Given the description of an element on the screen output the (x, y) to click on. 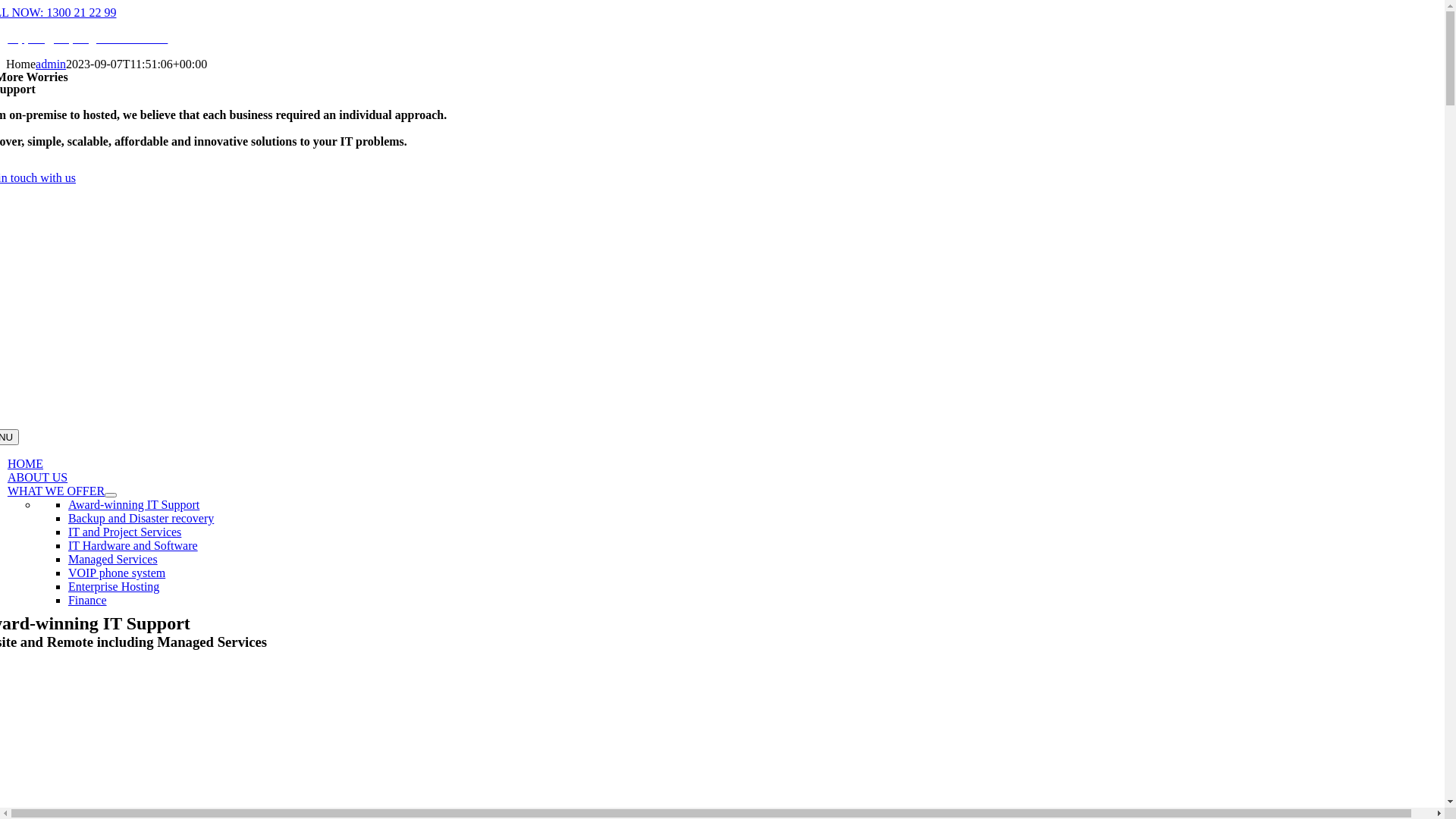
admin Element type: text (50, 63)
Award-winning IT Support Element type: text (133, 504)
VOIP phone system Element type: text (116, 572)
IT and Project Services Element type: text (124, 531)
IT Hardware and Software Element type: text (132, 545)
WHAT WE OFFER Element type: text (55, 490)
Backup and Disaster recovery Element type: text (140, 517)
Skip to content Element type: text (5, 5)
Enterprise Hosting Element type: text (113, 586)
Managed Services Element type: text (112, 558)
Finance Element type: text (87, 599)
ABOUT US Element type: text (37, 476)
HOME Element type: text (25, 463)
support@leapfrogmarket.com.au Element type: text (87, 37)
